Given the description of an element on the screen output the (x, y) to click on. 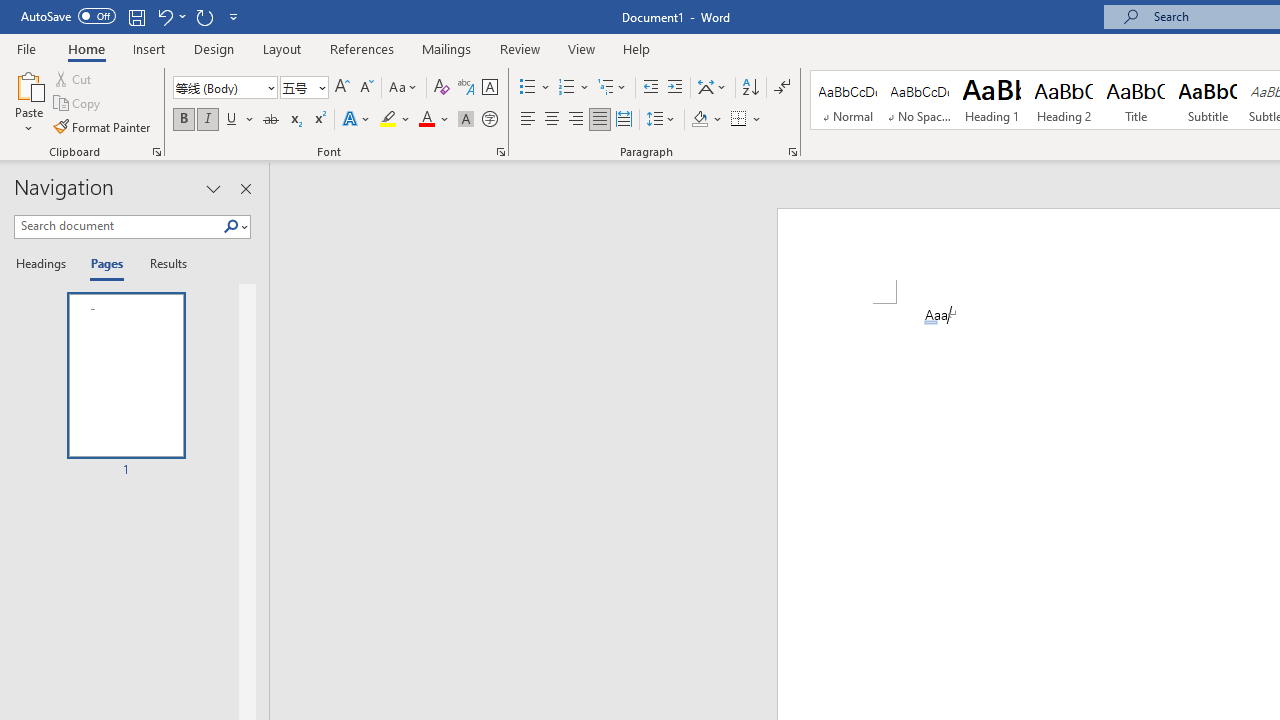
Heading 2 (1063, 100)
